Given the description of an element on the screen output the (x, y) to click on. 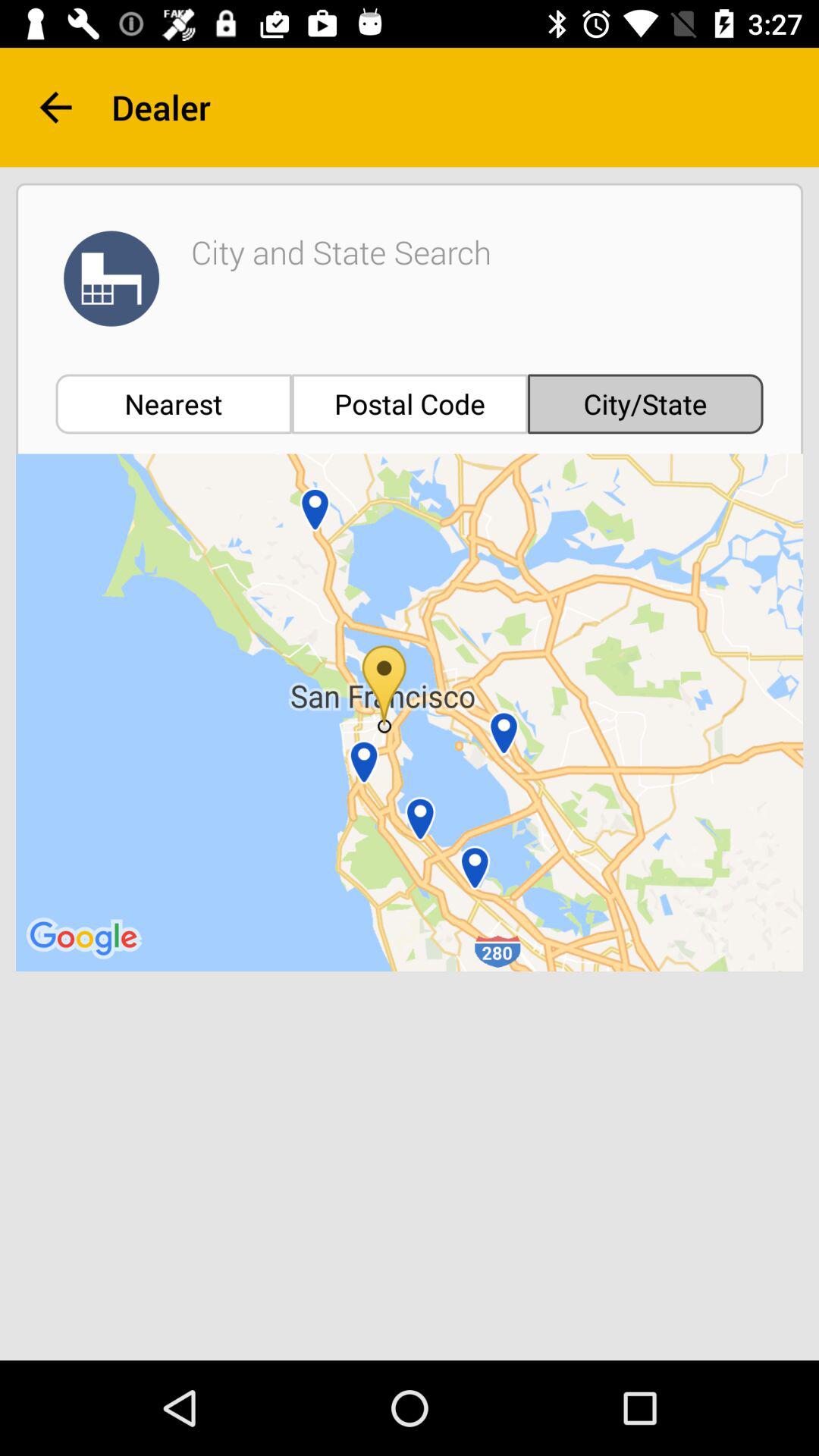
click the icon next to the dealer item (55, 107)
